Given the description of an element on the screen output the (x, y) to click on. 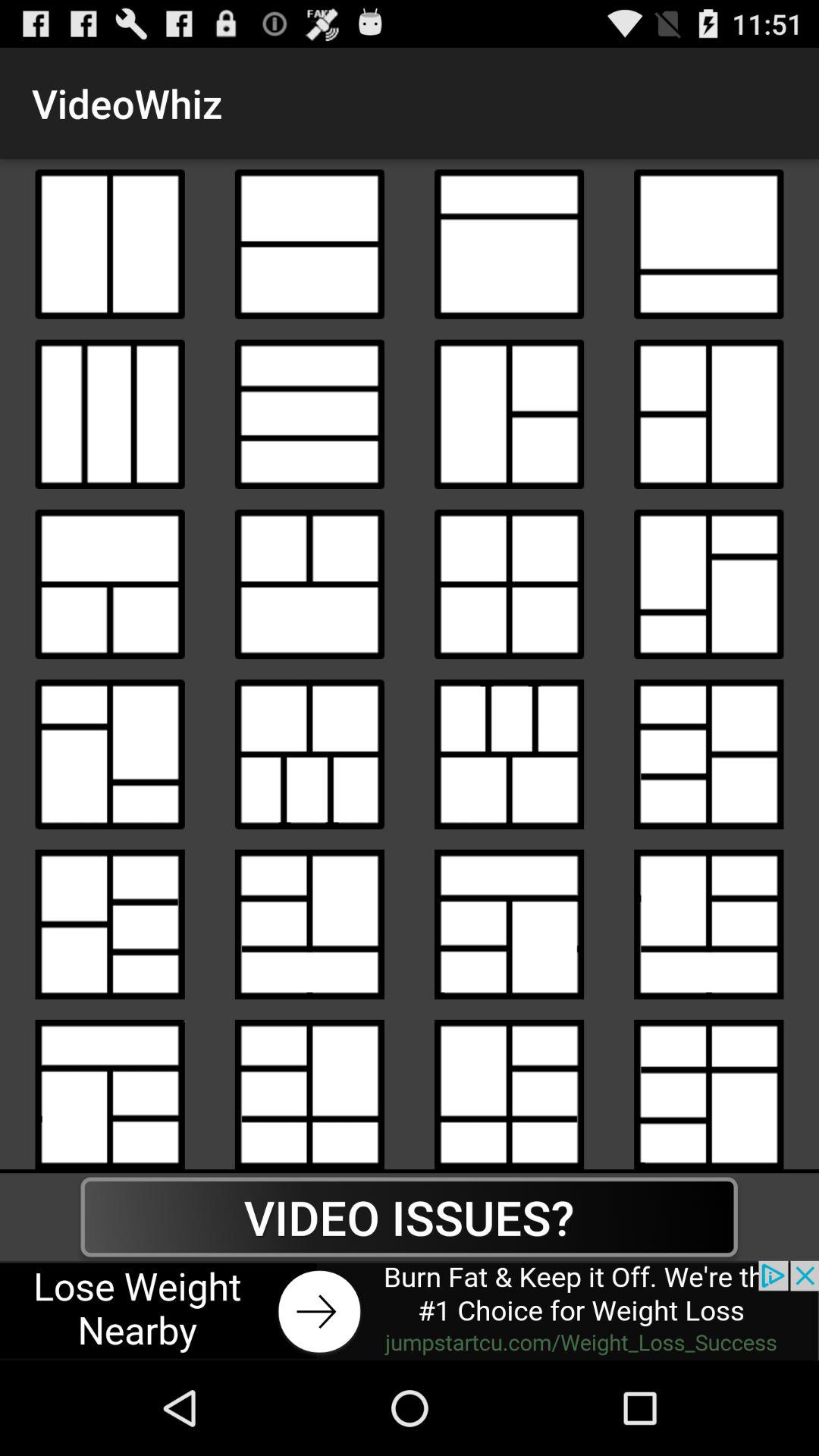
layout option (109, 1089)
